Given the description of an element on the screen output the (x, y) to click on. 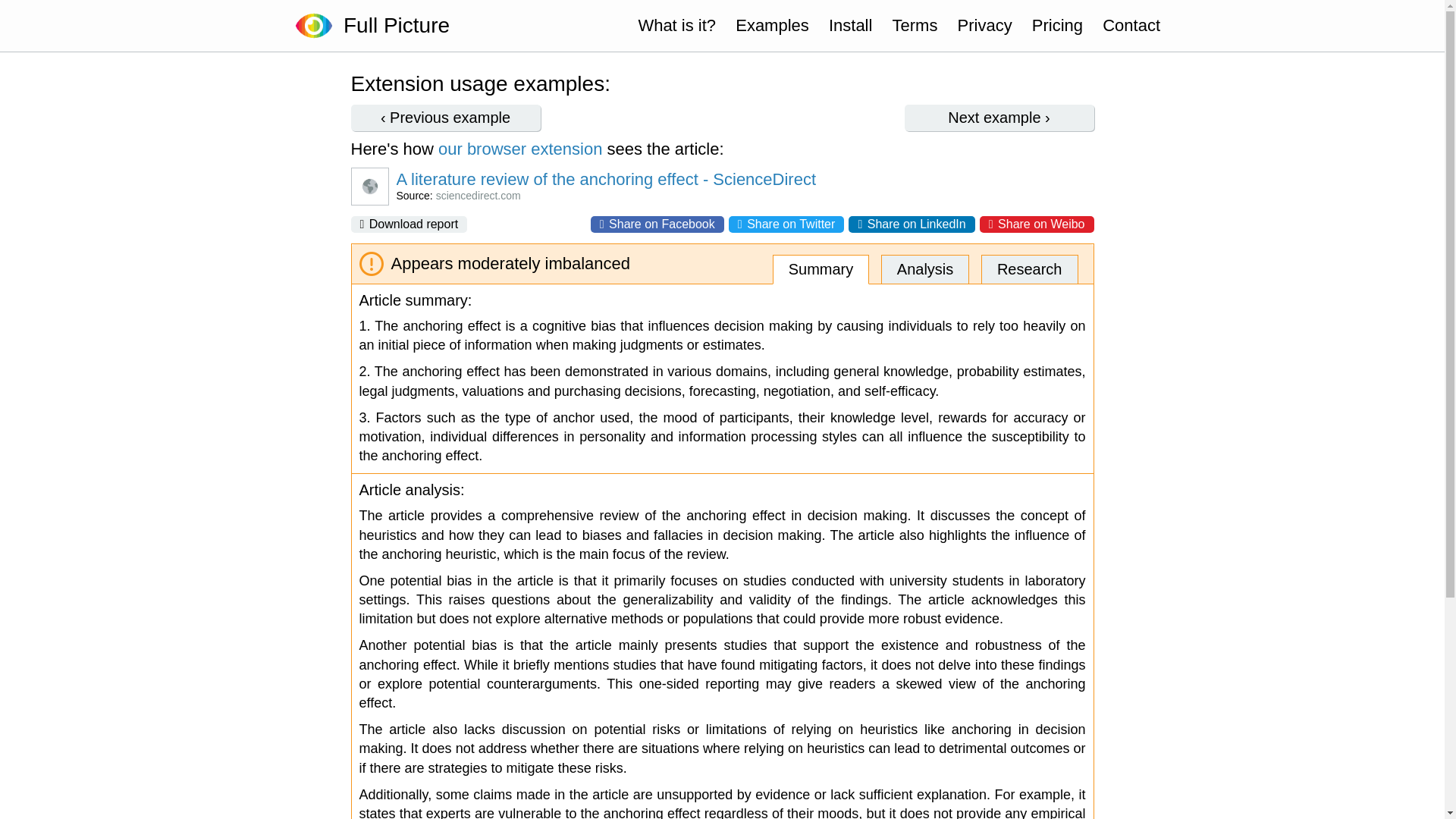
Share on LinkedIn (911, 224)
Install (850, 25)
Examples (772, 25)
Analysis (924, 269)
Download report (408, 224)
A literature review of the anchoring effect - ScienceDirect (748, 179)
Full Picture (390, 25)
Share on Facebook (657, 224)
Share on Twitter (786, 224)
Contact (1131, 25)
Share on Weibo (1036, 224)
Research (1029, 269)
our browser extension (520, 148)
Summary (821, 269)
What is it? (676, 25)
